Given the description of an element on the screen output the (x, y) to click on. 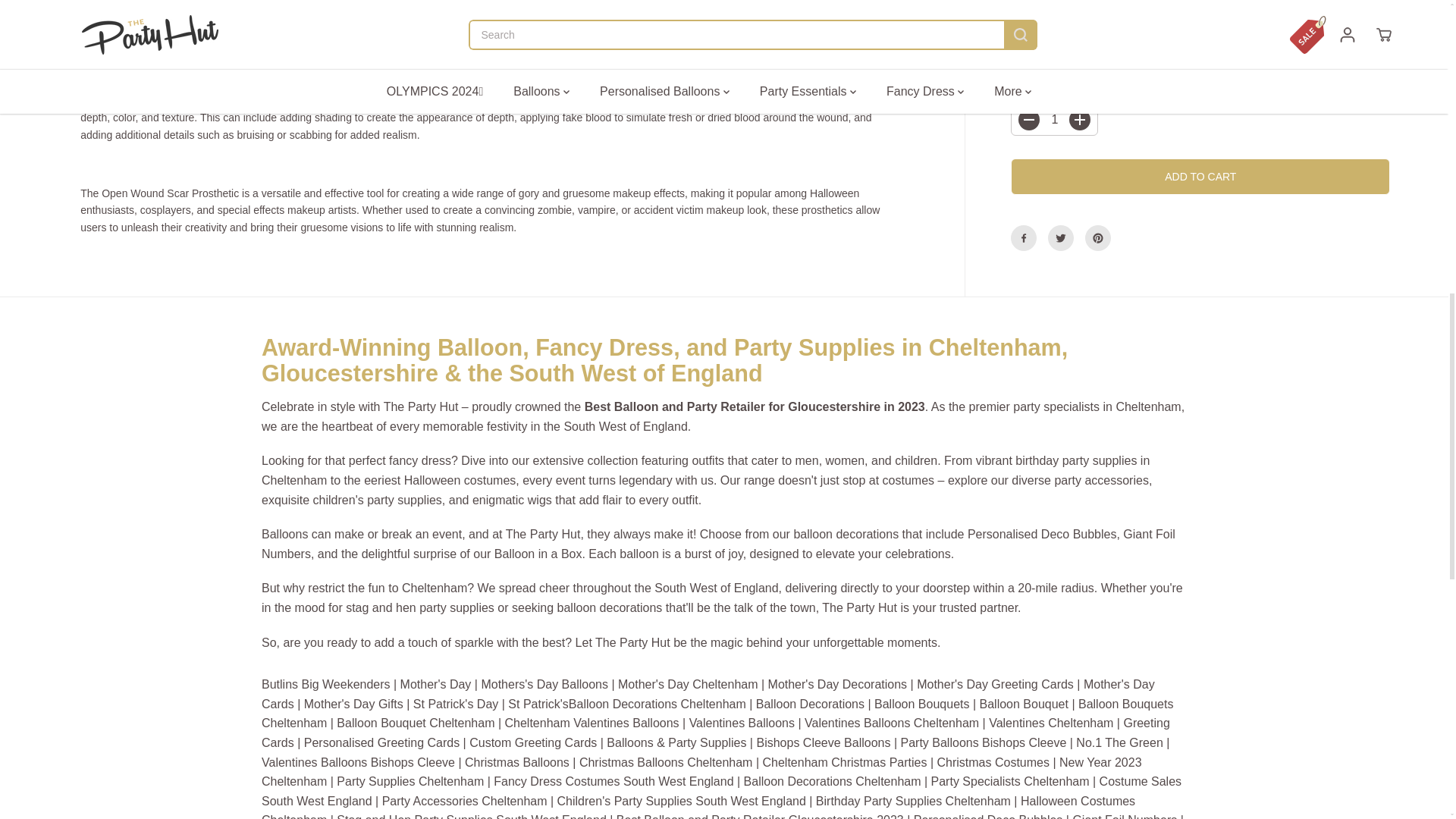
All Foils - 23 (284, 533)
All Party (404, 499)
Adult Womens Fancy Dress (844, 460)
Mens Fancy Dress (806, 460)
Adults All Fancy Dress (419, 460)
The Party Hut Cheltenham (421, 406)
All Childrens Fancy Dress (916, 460)
Wigs (539, 499)
